Given the description of an element on the screen output the (x, y) to click on. 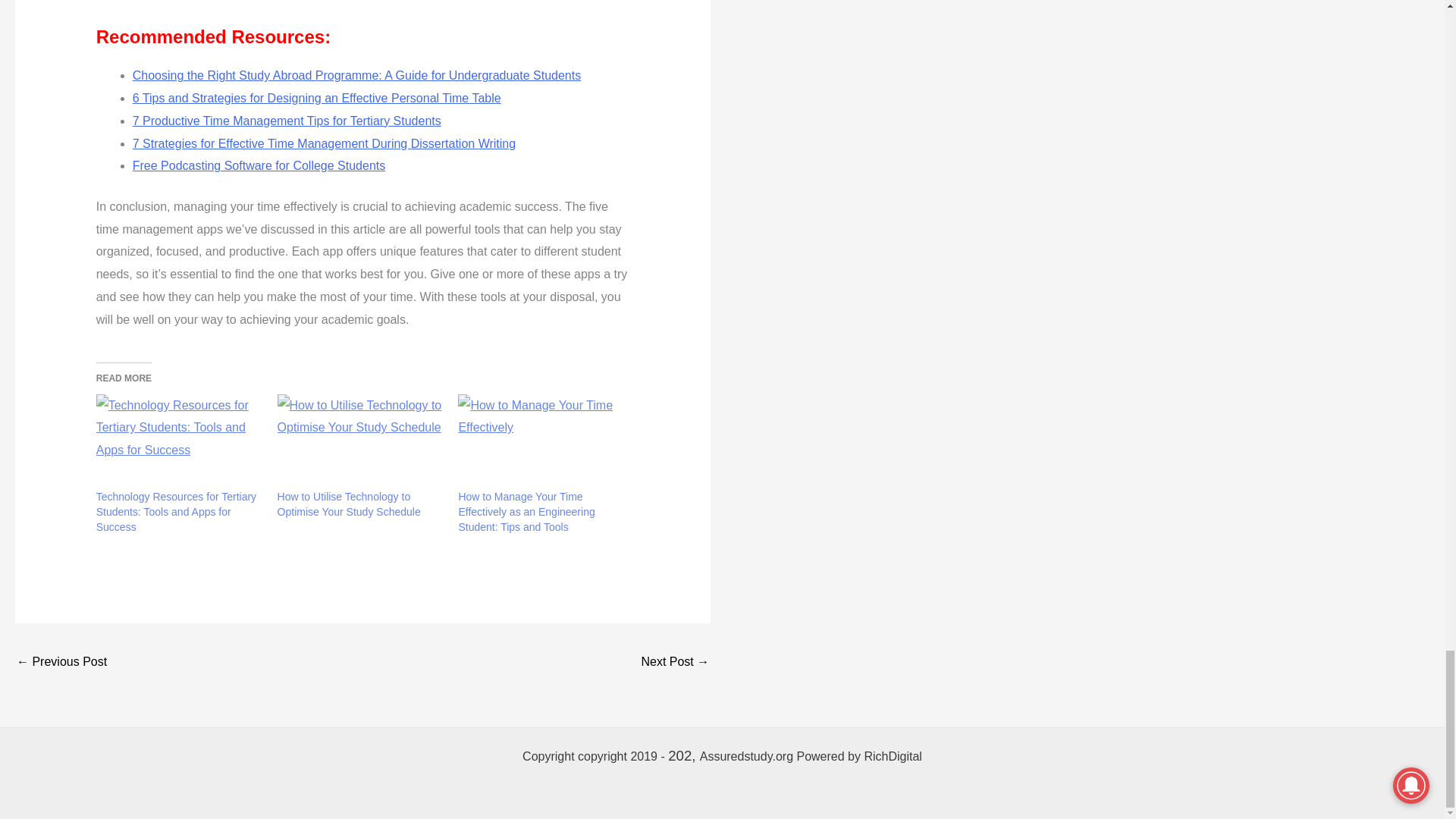
Advertisement (338, 9)
